Given the description of an element on the screen output the (x, y) to click on. 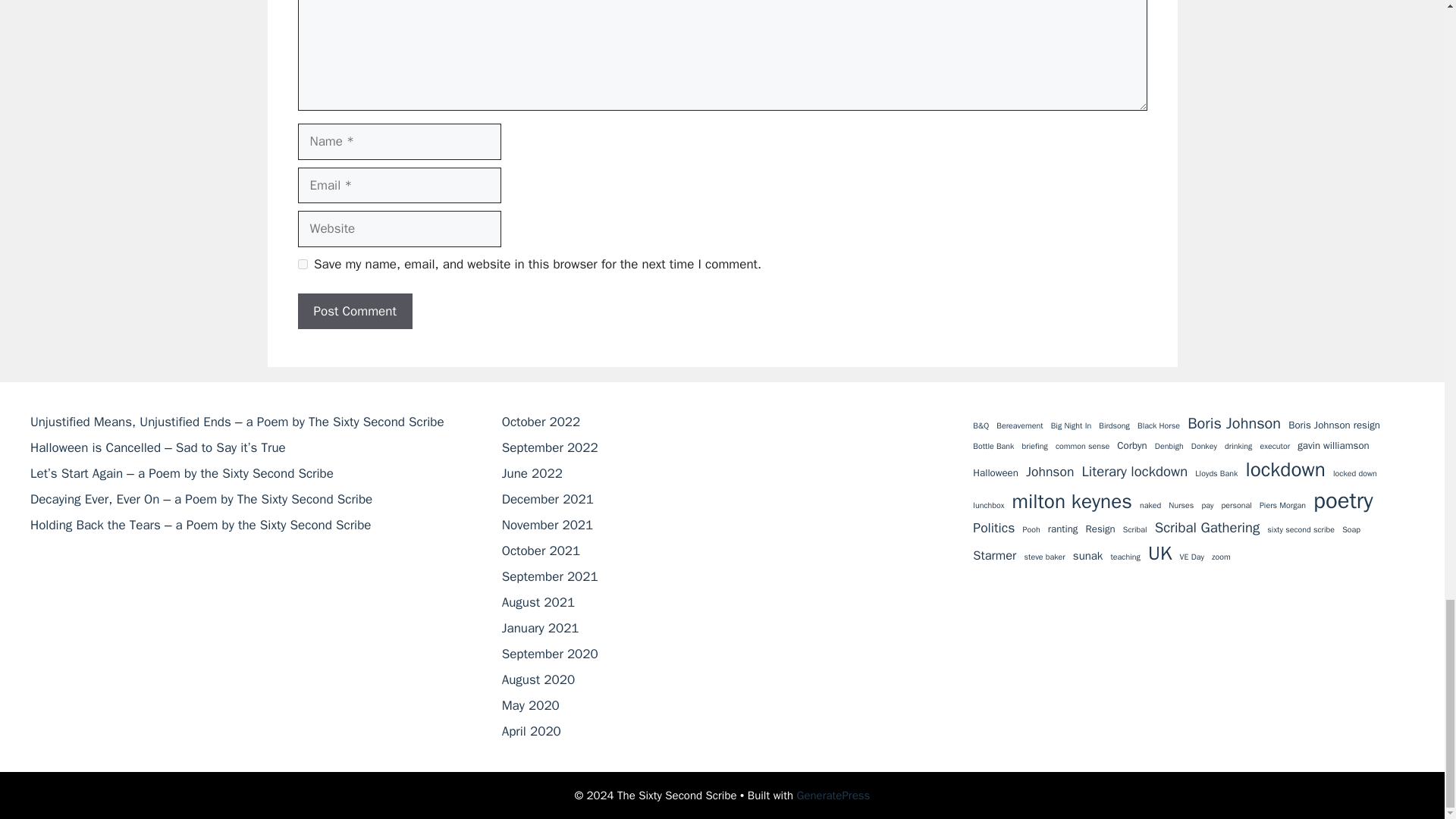
yes (302, 264)
June 2022 (532, 473)
December 2021 (548, 498)
September 2022 (550, 447)
Post Comment (354, 311)
October 2021 (541, 550)
September 2021 (550, 576)
Post Comment (354, 311)
November 2021 (548, 524)
October 2022 (541, 421)
